Given the description of an element on the screen output the (x, y) to click on. 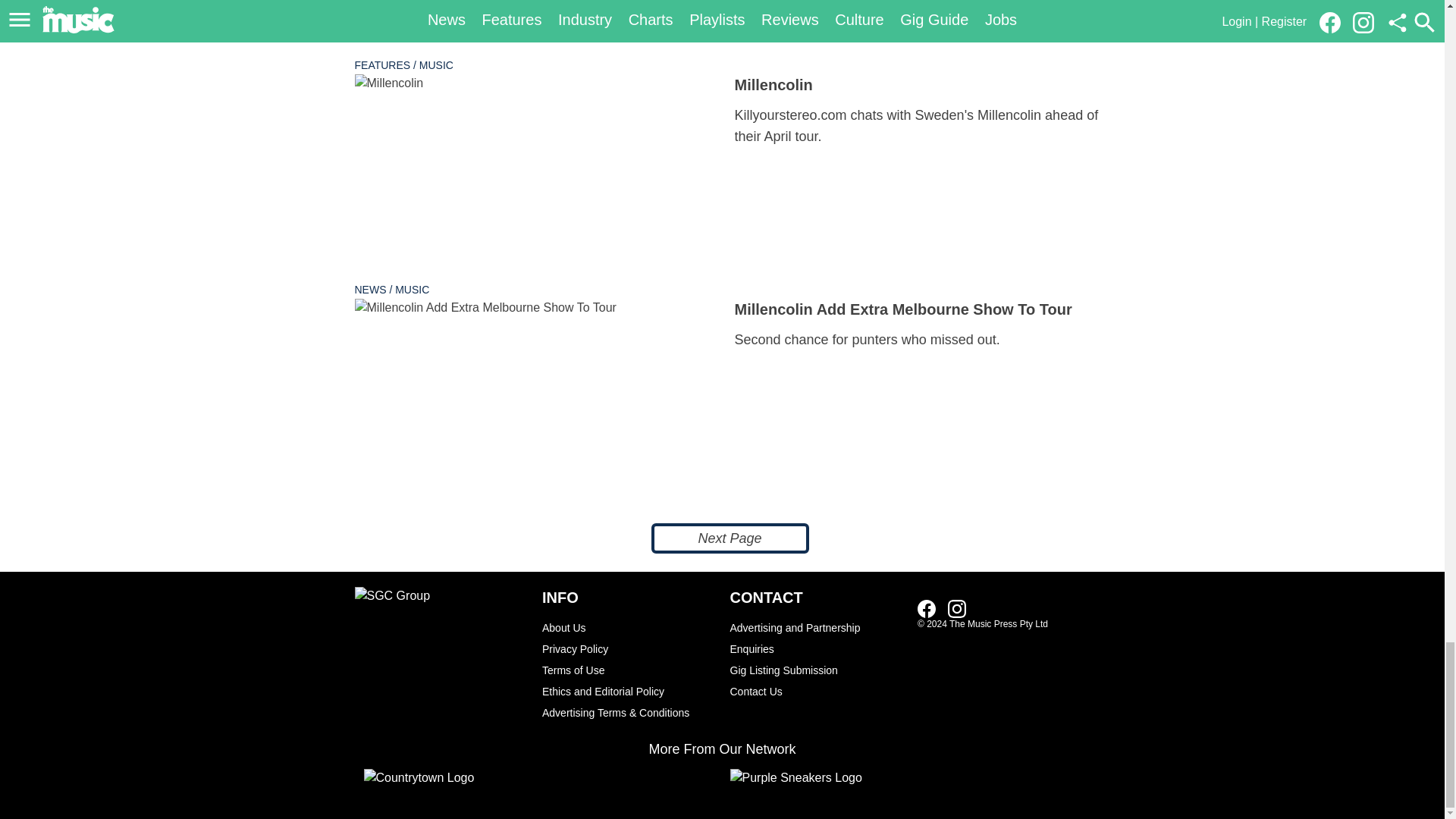
Link to our Instagram (956, 608)
Link to our Facebook (926, 608)
Next Page (729, 538)
